Given the description of an element on the screen output the (x, y) to click on. 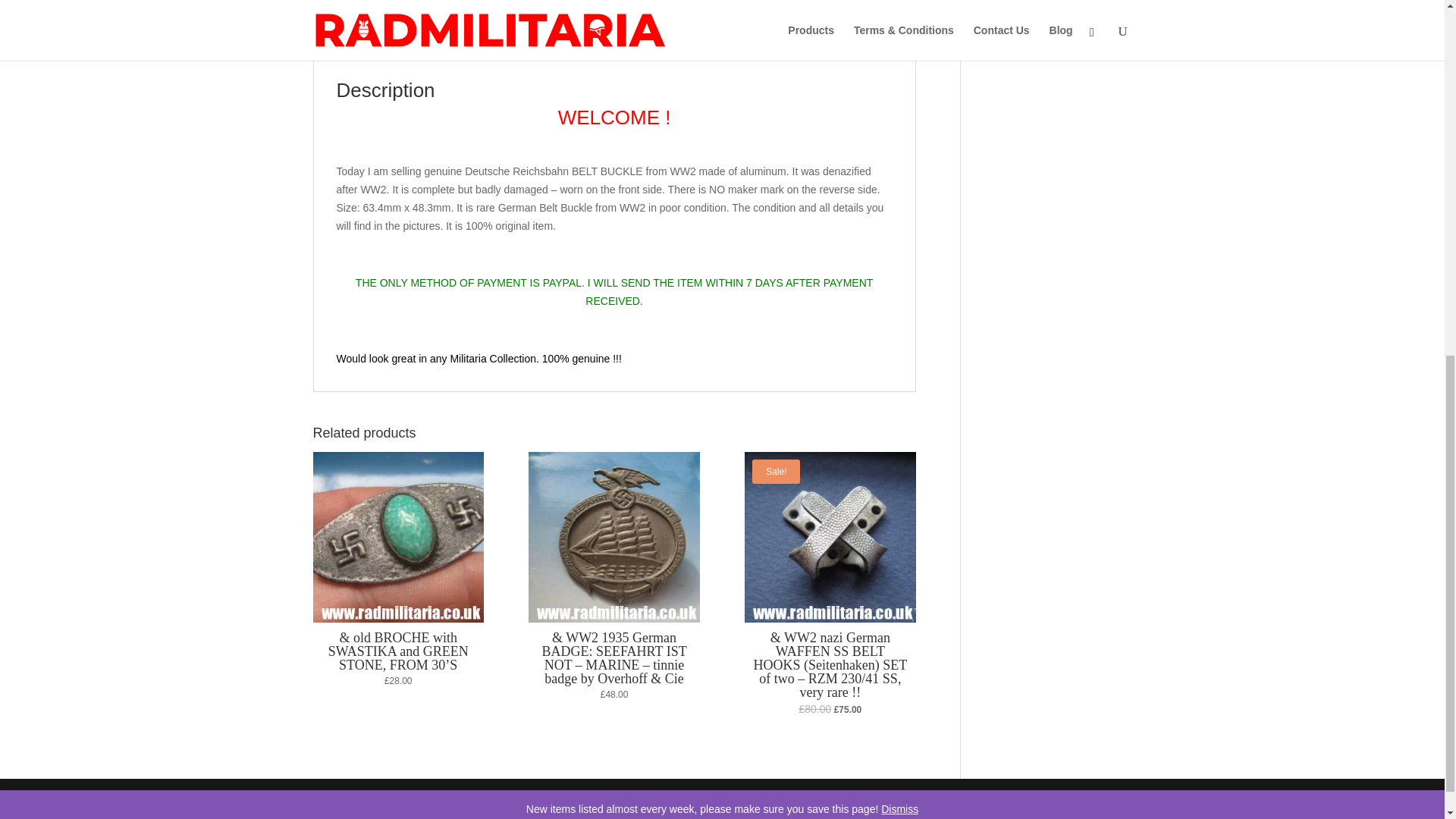
Description (358, 44)
